Given the description of an element on the screen output the (x, y) to click on. 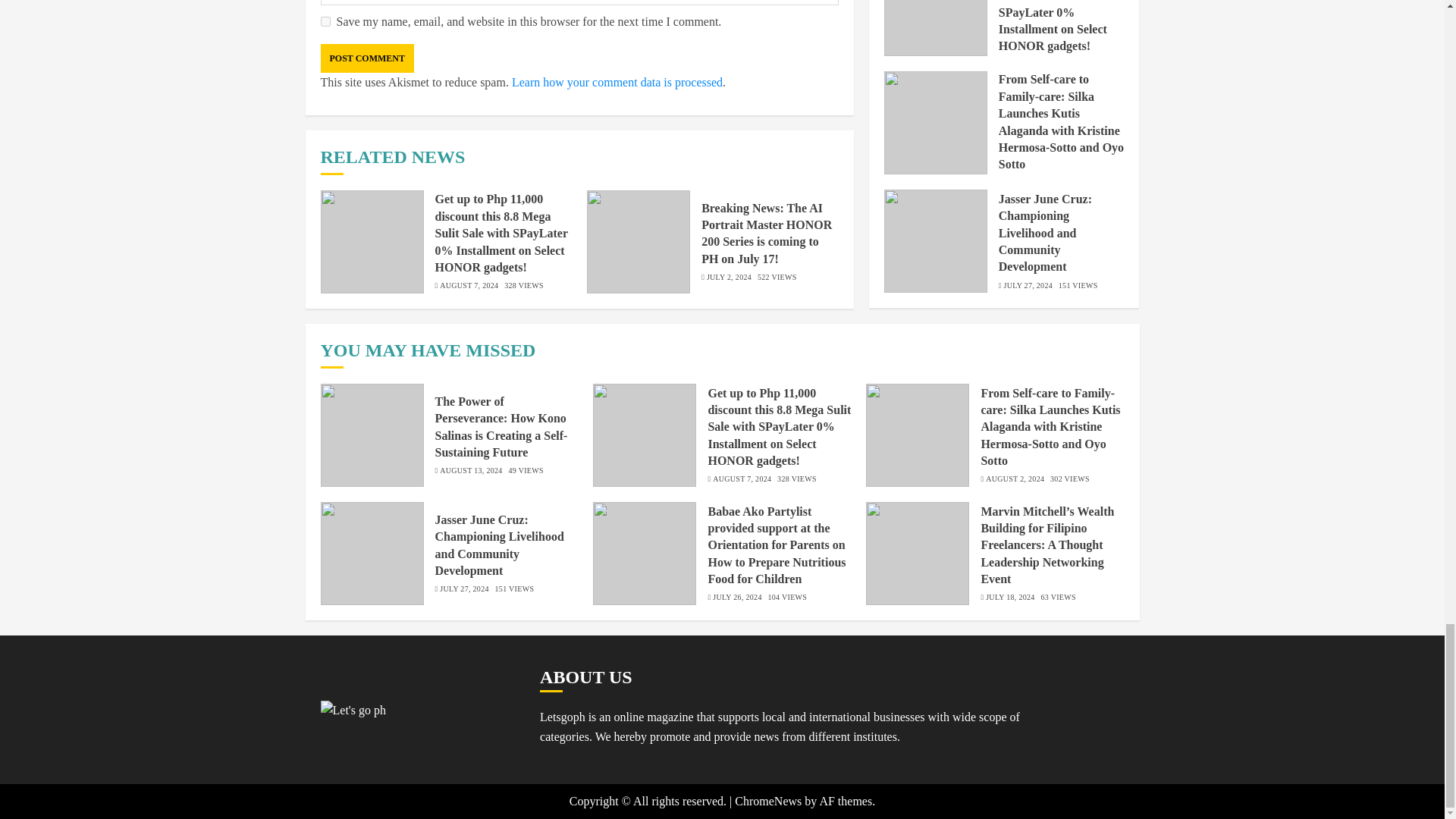
Learn how your comment data is processed (617, 82)
yes (325, 21)
Post Comment (366, 58)
Post Comment (366, 58)
